Given the description of an element on the screen output the (x, y) to click on. 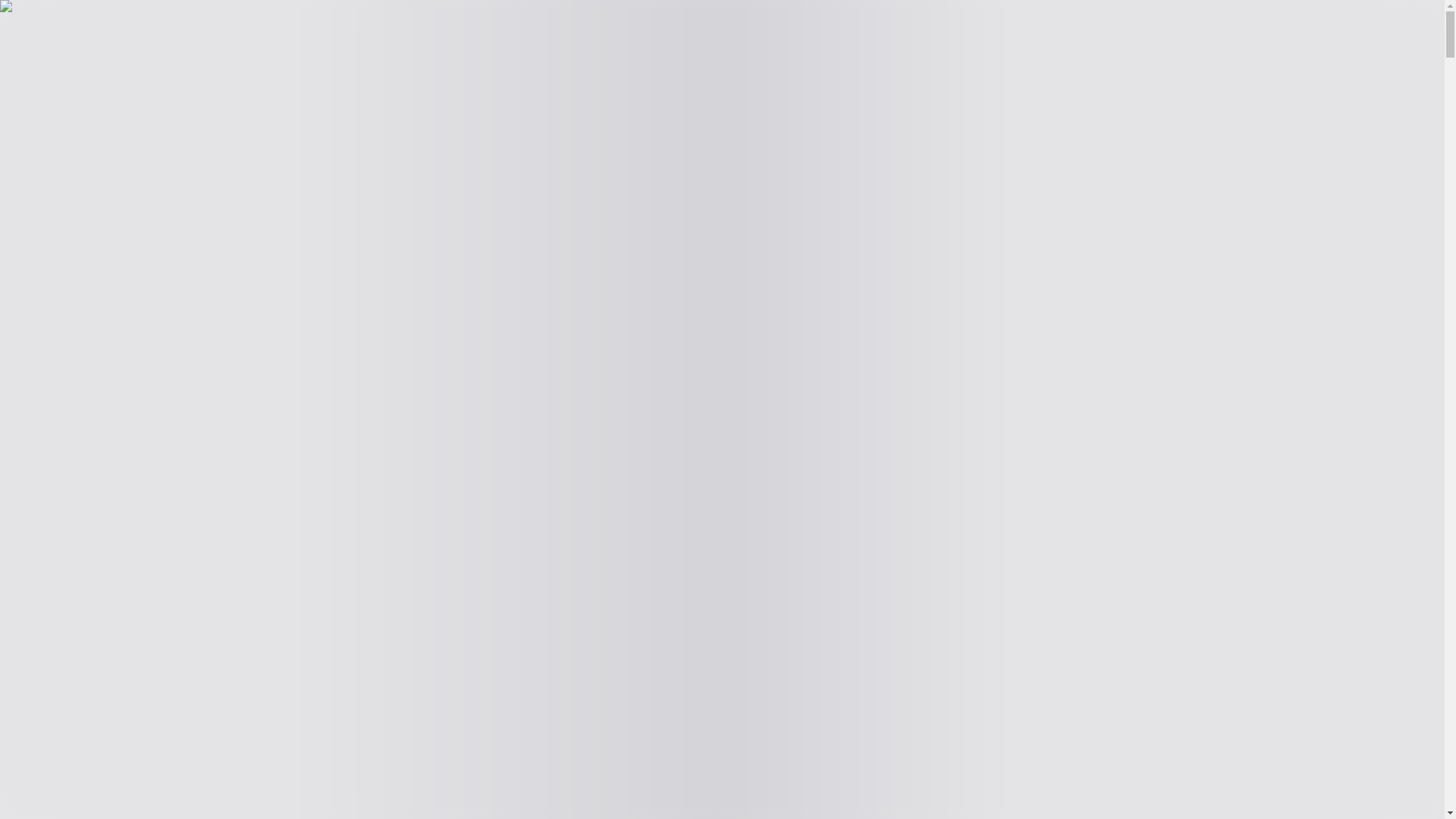
Themes (34, 44)
Our Services (151, 60)
Videos (103, 60)
Open Sidebar Menu (344, 27)
Articles (25, 60)
Podcasts (66, 60)
Search articles, podcasts, videos, resources, and authors. (146, 27)
